Given the description of an element on the screen output the (x, y) to click on. 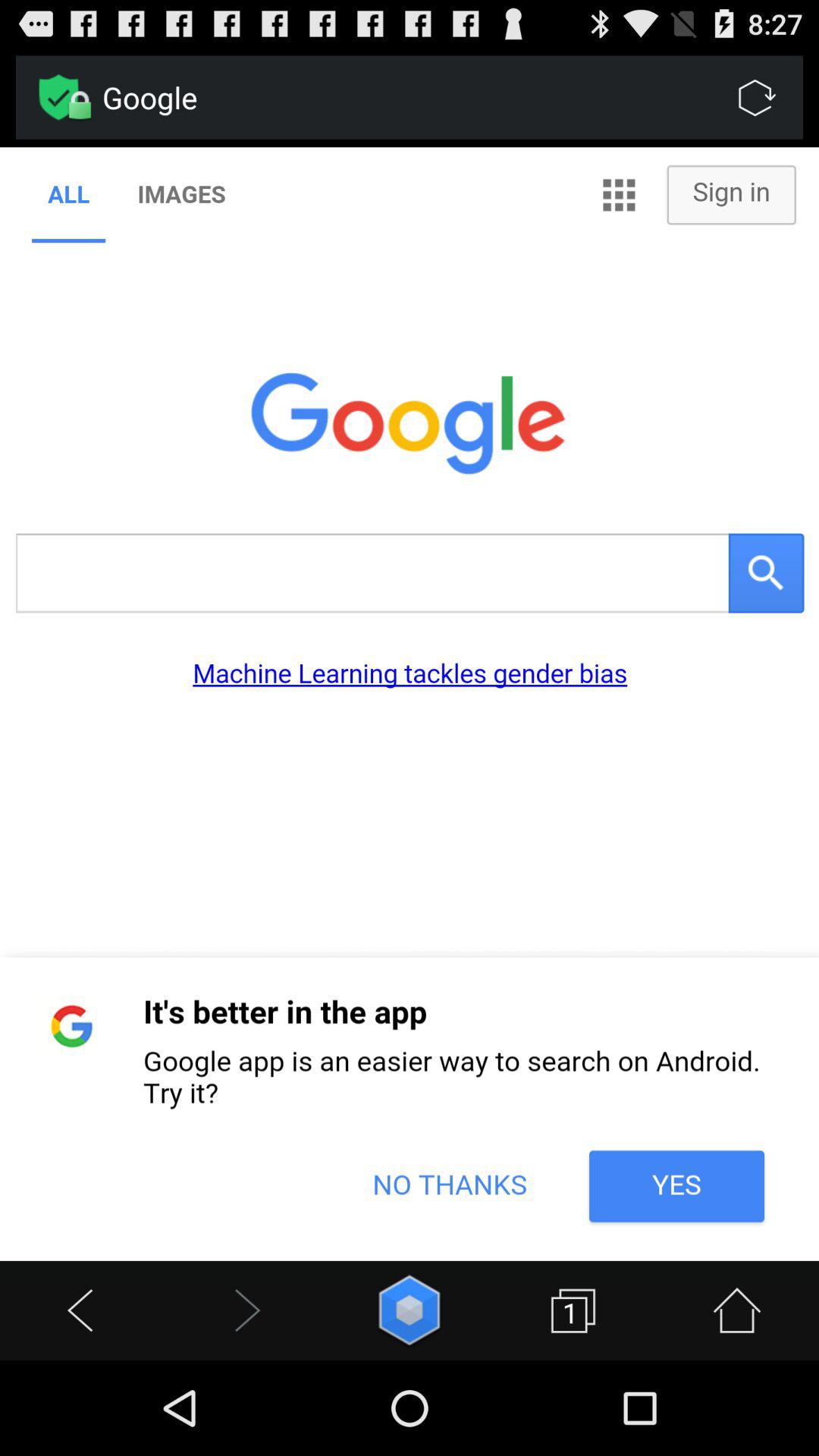
google homepage (409, 703)
